Given the description of an element on the screen output the (x, y) to click on. 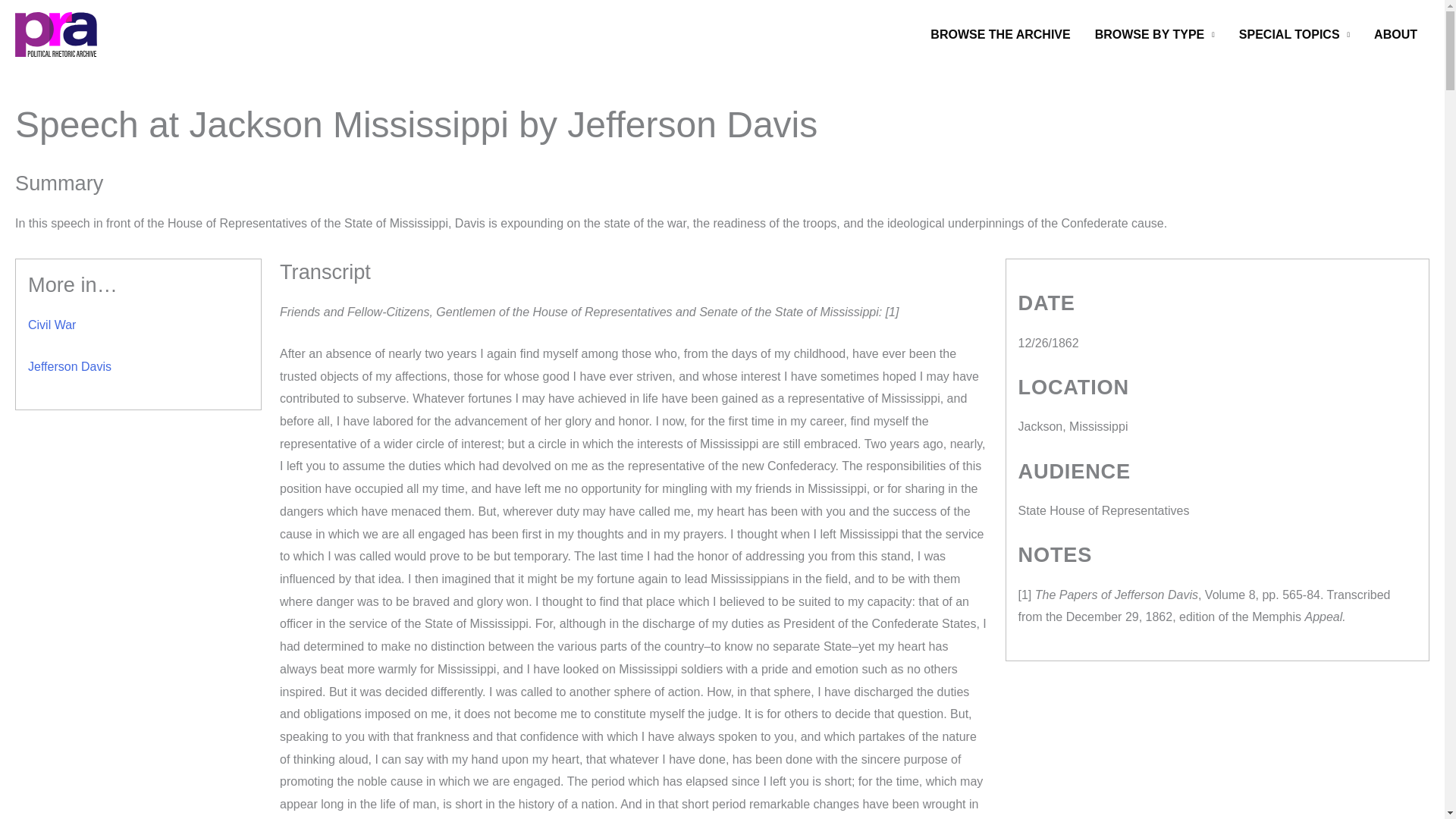
Jefferson Davis (69, 366)
BROWSE THE ARCHIVE (999, 34)
SPECIAL TOPICS (1294, 34)
BROWSE BY TYPE (1155, 34)
ABOUT (1395, 34)
Civil War (51, 324)
